Given the description of an element on the screen output the (x, y) to click on. 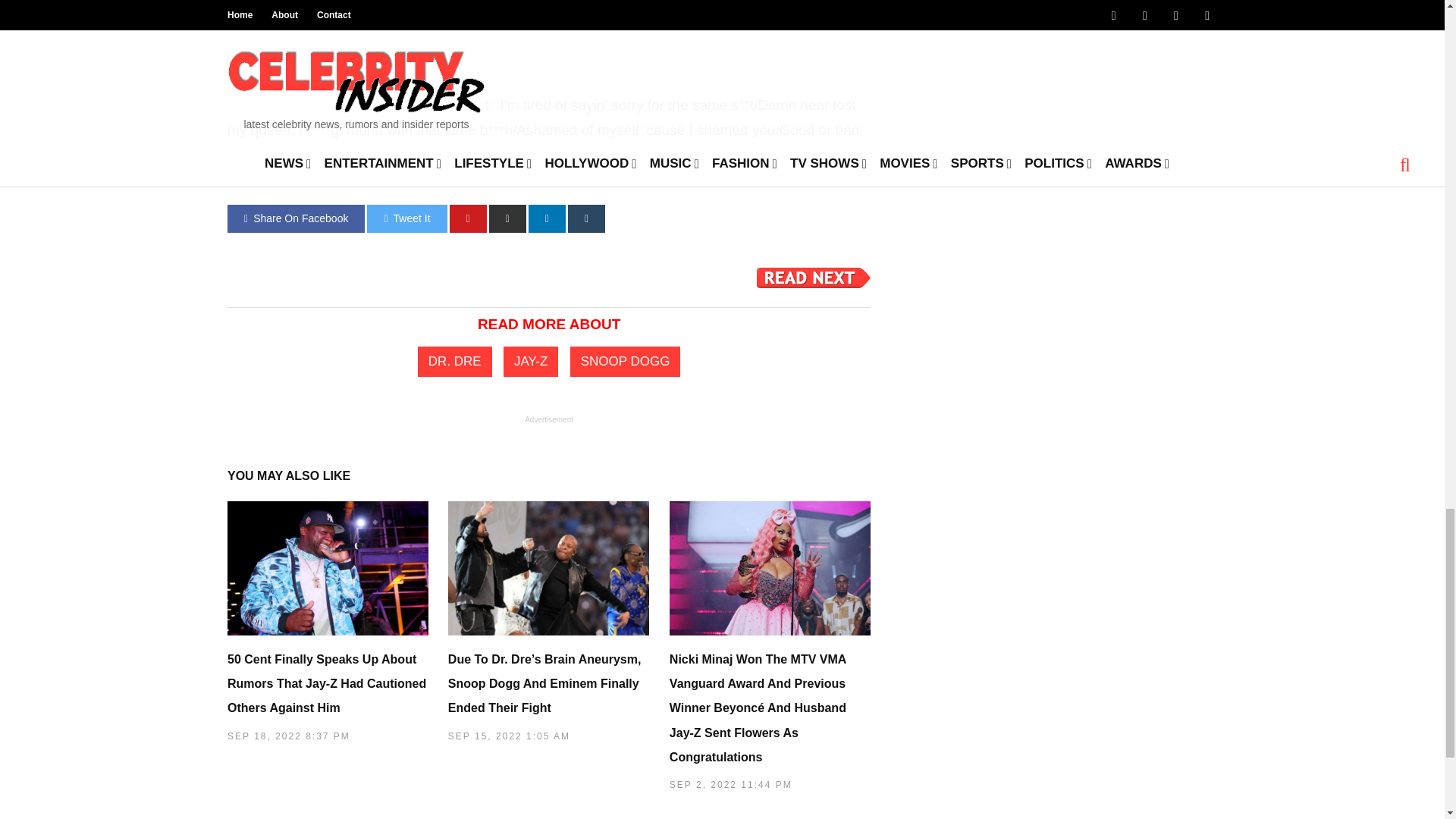
Share On Linkedin (547, 218)
Share On Twitter (406, 218)
Share On Pinterest (467, 218)
Share On Reddit (507, 218)
Share On Facebook (296, 218)
